Given the description of an element on the screen output the (x, y) to click on. 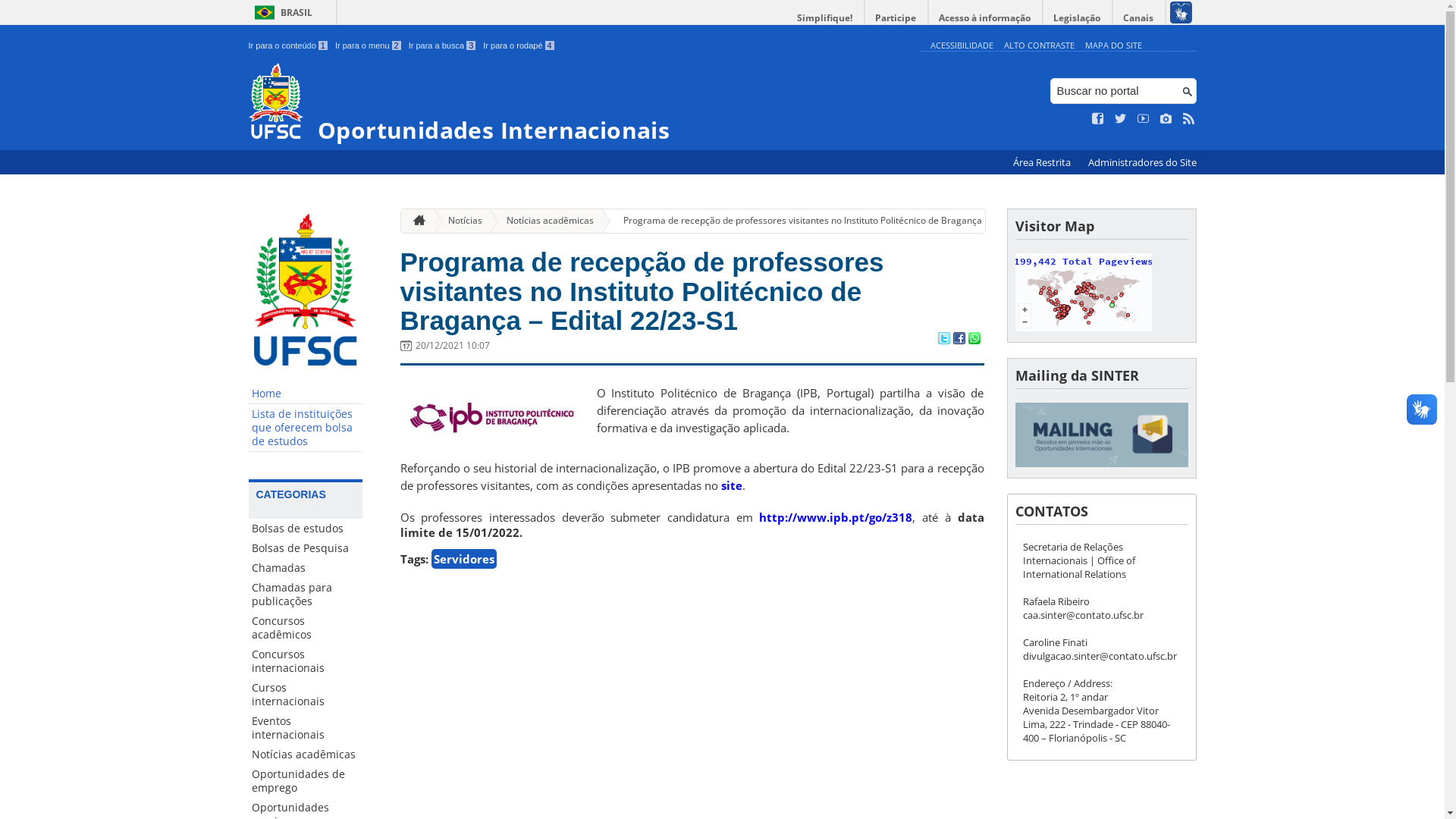
Eventos internacionais Element type: text (305, 727)
Participe Element type: text (895, 18)
Bolsas de Pesquisa Element type: text (305, 548)
Cursos internacionais Element type: text (305, 694)
Ir para o menu 2 Element type: text (368, 45)
Simplifique! Element type: text (825, 18)
Compartilhar no Facebook Element type: hover (958, 339)
Chamadas Element type: text (305, 567)
site Element type: text (730, 484)
Compartilhar no Twitter Element type: hover (943, 339)
Administradores do Site Element type: text (1141, 162)
http://www.ipb.pt/go/z318 Element type: text (835, 516)
MAPA DO SITE Element type: text (1112, 44)
Ir para a busca 3 Element type: text (442, 45)
Curta no Facebook Element type: hover (1098, 118)
Oportunidades de emprego Element type: text (305, 780)
Concursos internacionais Element type: text (305, 660)
Servidores Element type: text (462, 558)
Oportunidades Internacionais Element type: text (580, 102)
Visit tracker Element type: hover (1082, 327)
ACESSIBILIDADE Element type: text (960, 44)
ALTO CONTRASTE Element type: text (1039, 44)
BRASIL Element type: text (280, 12)
Compartilhar no WhatsApp Element type: hover (973, 339)
Home Element type: text (305, 393)
Bolsas de estudos Element type: text (305, 528)
Canais Element type: text (1138, 18)
Siga no Twitter Element type: hover (1120, 118)
Veja no Instagram Element type: hover (1166, 118)
